Given the description of an element on the screen output the (x, y) to click on. 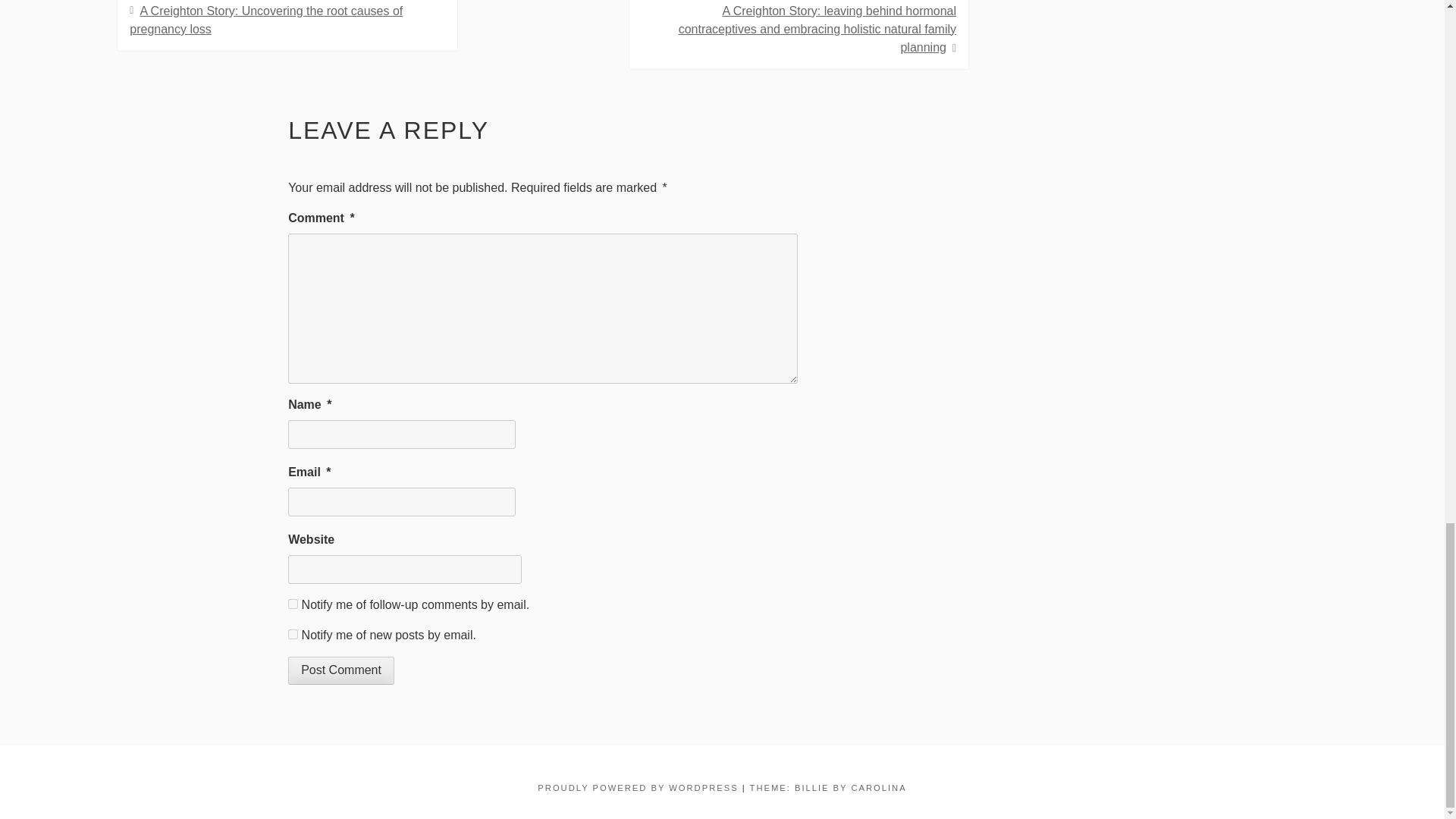
subscribe (293, 634)
subscribe (293, 603)
Post Comment (341, 670)
Post Comment (341, 670)
